Given the description of an element on the screen output the (x, y) to click on. 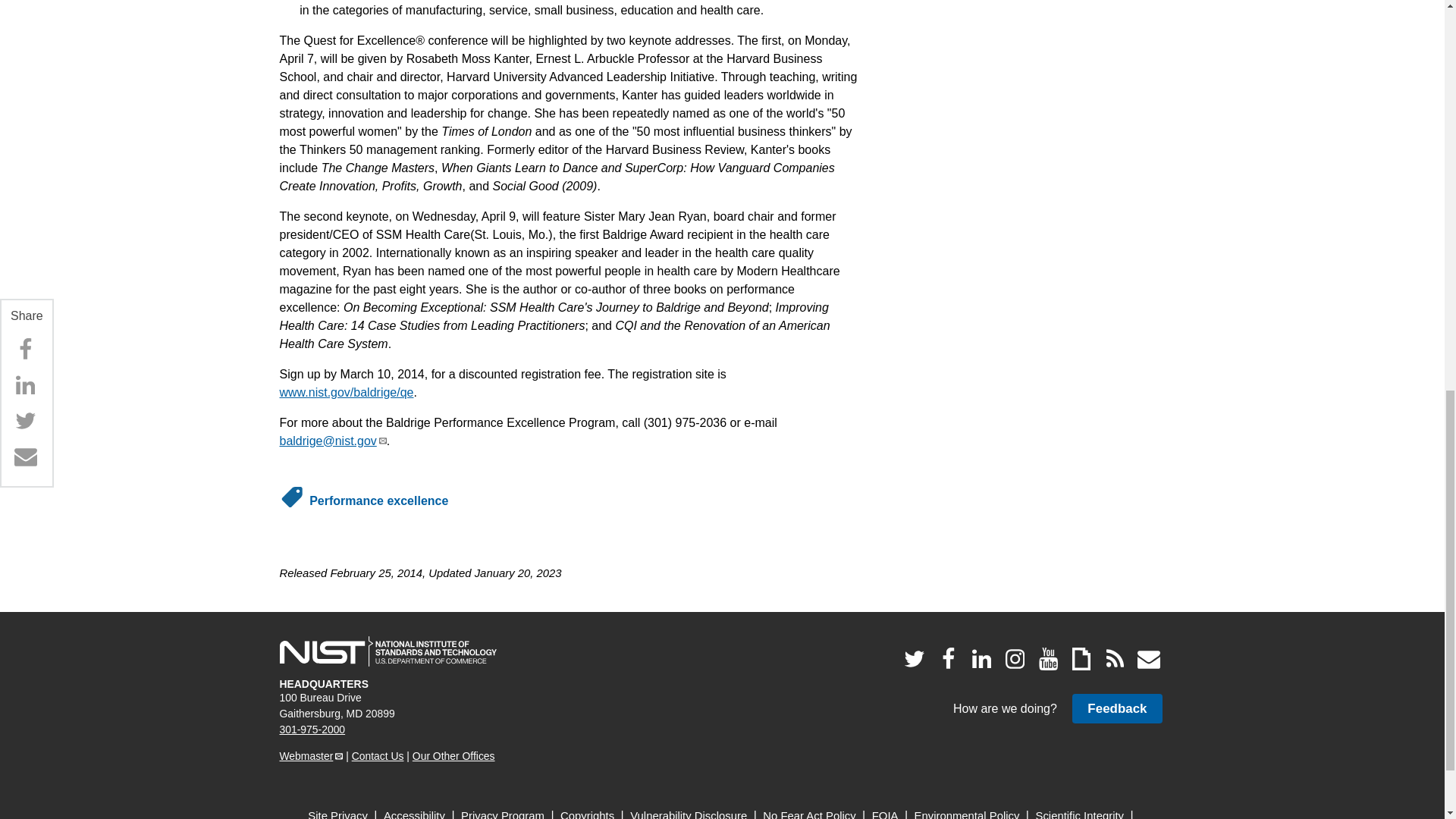
Provide feedback (1116, 708)
301-975-2000 (312, 729)
Performance excellence (378, 500)
National Institute of Standards and Technology (387, 651)
Our Other Offices (453, 756)
Webmaster (310, 756)
Contact Us (378, 756)
